Given the description of an element on the screen output the (x, y) to click on. 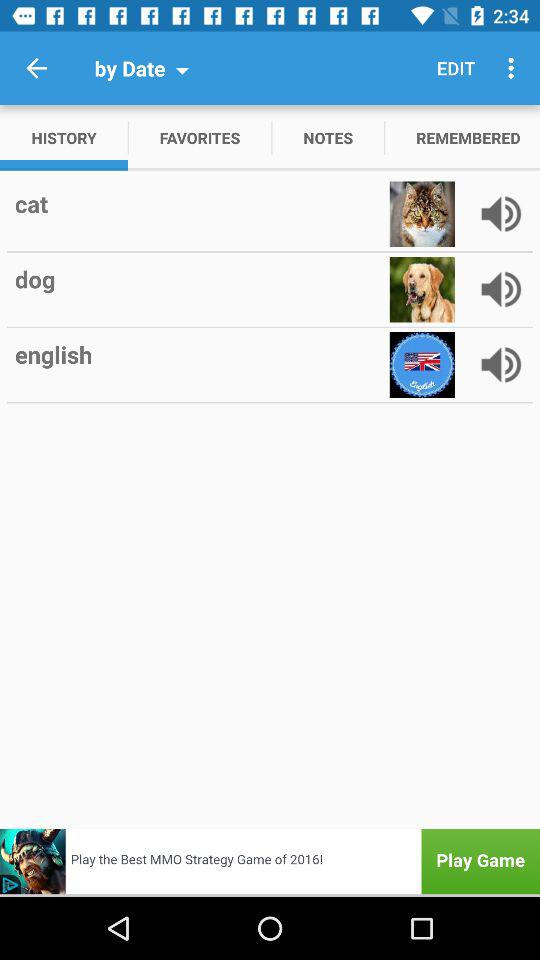
open item to the left of the by date (36, 68)
